Given the description of an element on the screen output the (x, y) to click on. 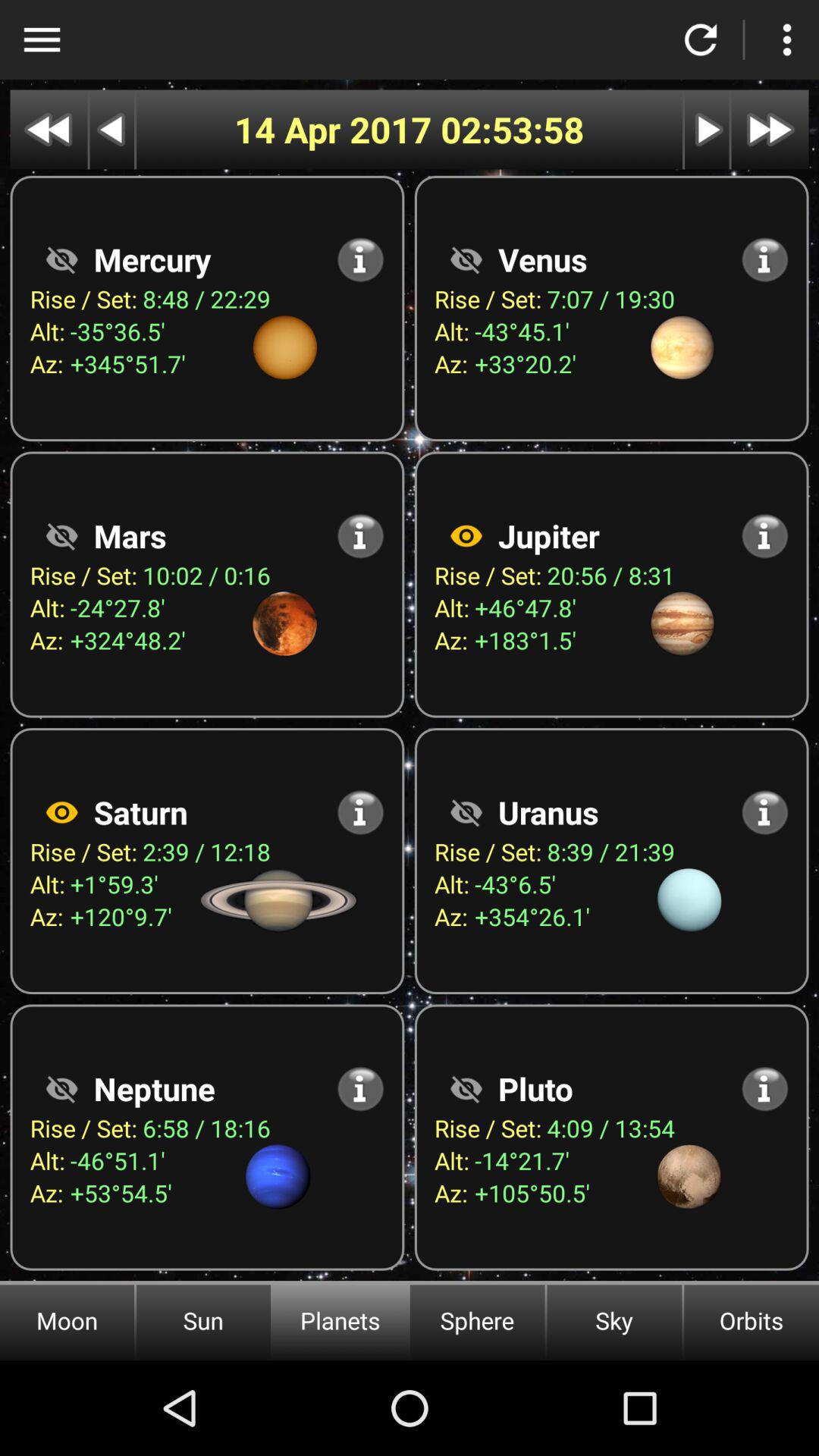
see more information (764, 812)
